Given the description of an element on the screen output the (x, y) to click on. 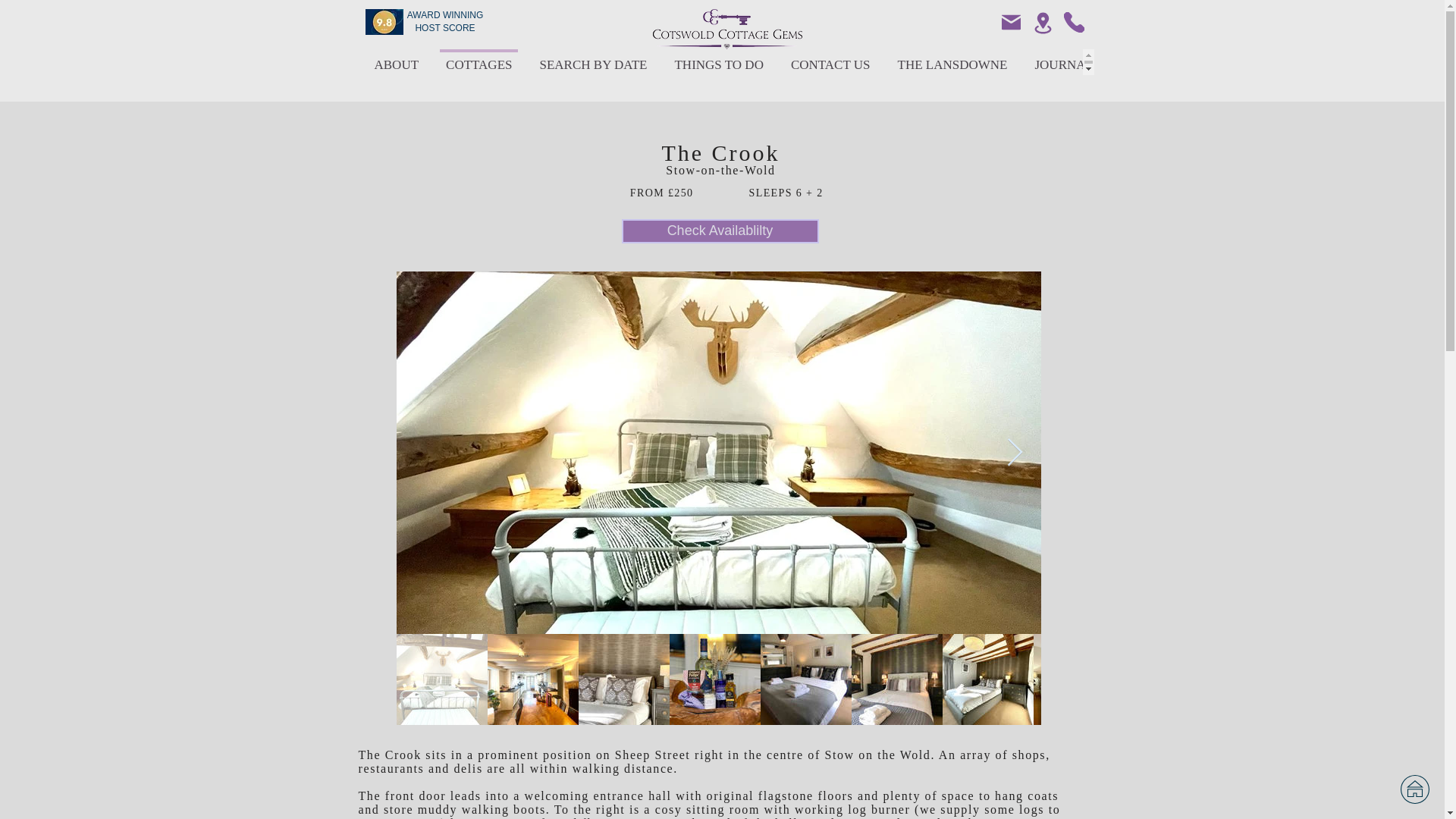
JOURNAL (1063, 62)
COTTAGES (478, 62)
CONTACT US (830, 62)
ABOUT (396, 62)
Check Availablilty (719, 231)
THE LANSDOWNE (952, 62)
THINGS TO DO (718, 62)
SEARCH BY DATE (593, 62)
